Given the description of an element on the screen output the (x, y) to click on. 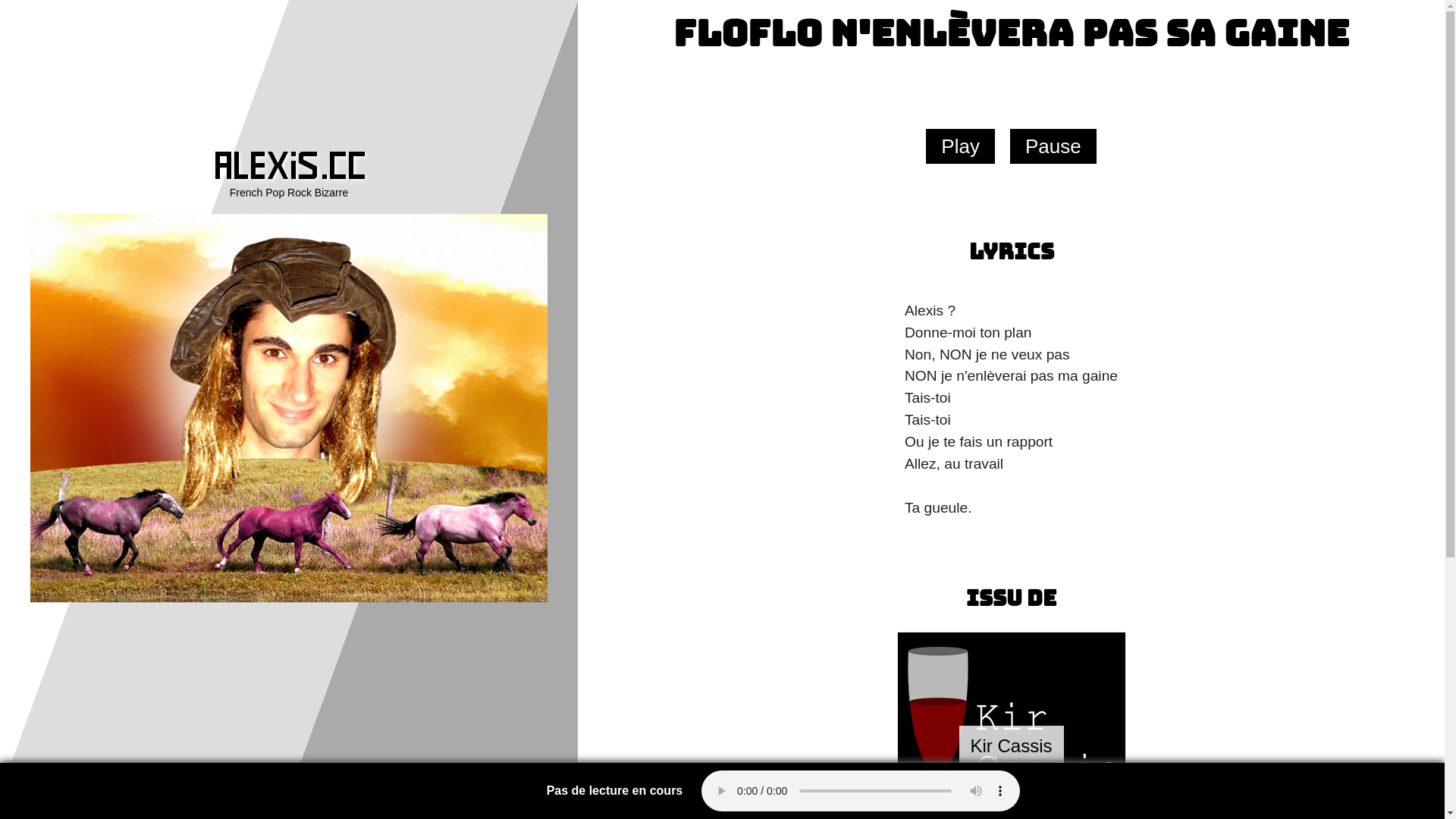
Play Element type: text (959, 145)
ALEXIS.CC
French Pop Rock Bizarre Element type: text (288, 175)
Pause Element type: text (1053, 145)
